Given the description of an element on the screen output the (x, y) to click on. 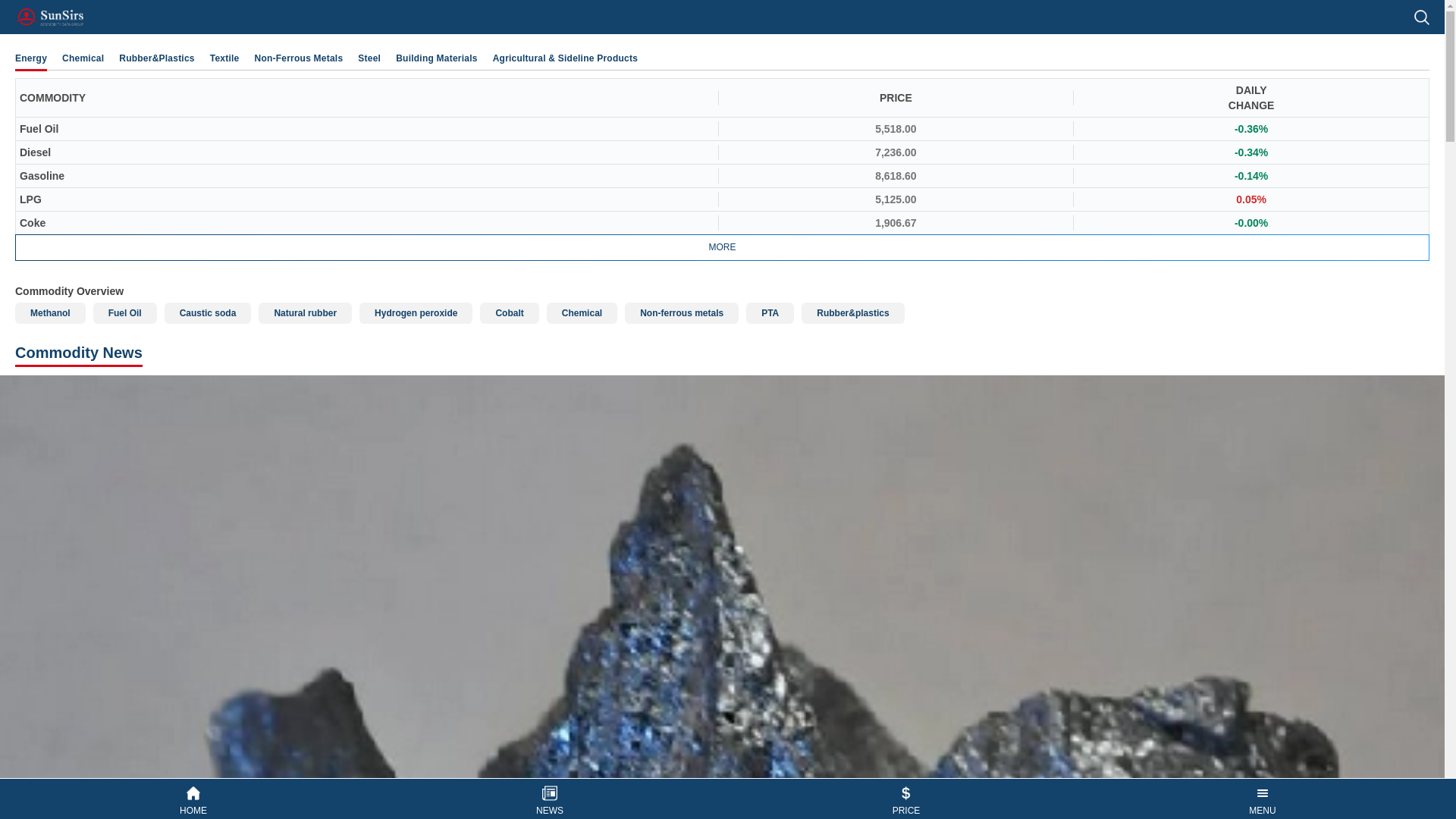
Caustic soda (207, 312)
Non-ferrous metals (681, 312)
Natural rubber (305, 312)
MORE (722, 247)
Methanol (49, 312)
Steel (369, 58)
Building Materials (436, 58)
Chemical (582, 312)
Chemical (82, 58)
Hydrogen peroxide (415, 312)
Energy (30, 58)
Cobalt (509, 312)
Non-Ferrous Metals (298, 58)
Fuel Oil (125, 312)
PTA (769, 312)
